Given the description of an element on the screen output the (x, y) to click on. 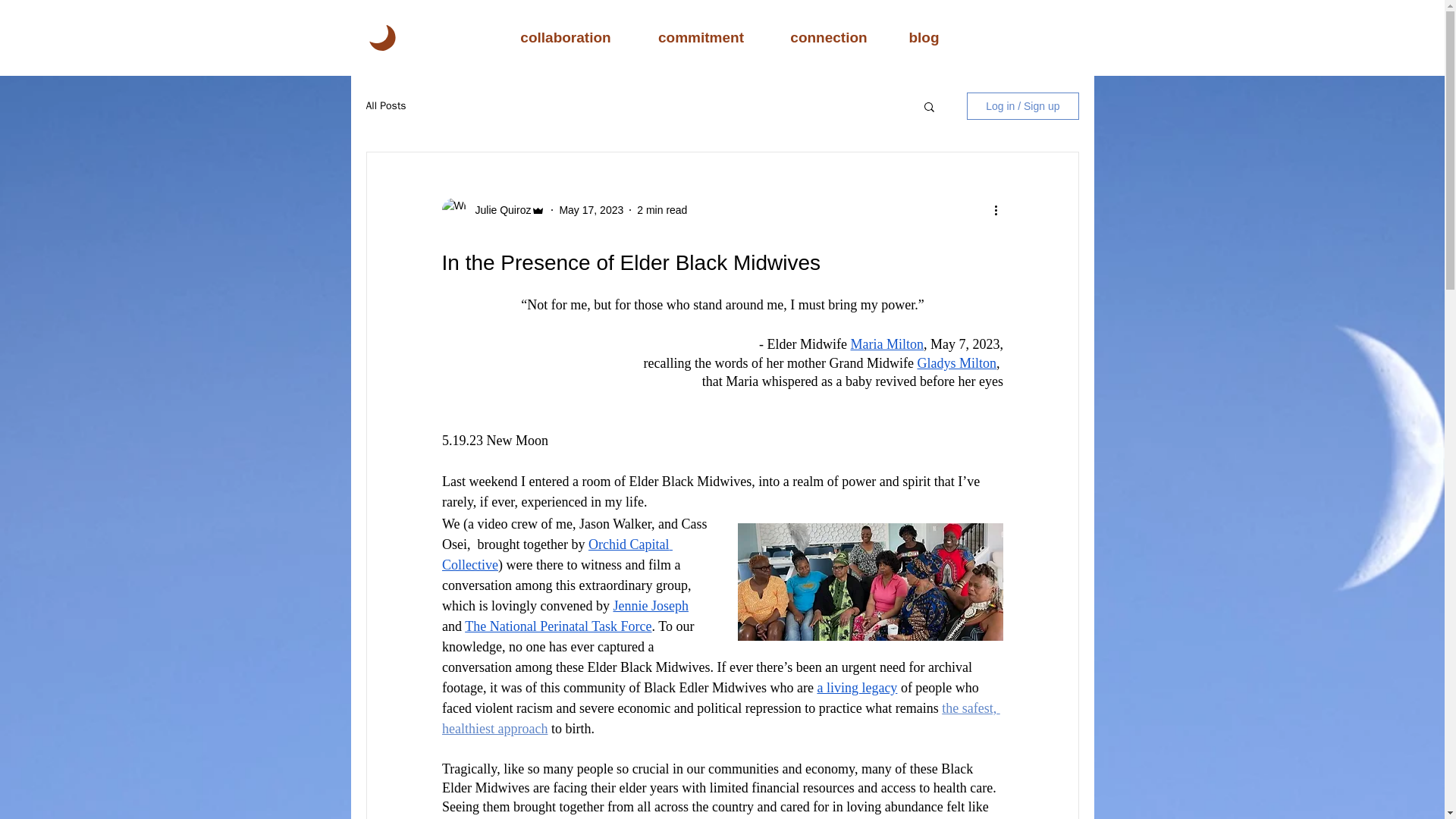
connection (828, 37)
a living legacy (856, 687)
May 17, 2023 (591, 209)
the safest, healthiest approach (719, 718)
2 min read (662, 209)
Julie Quiroz (498, 209)
blog (923, 37)
collaboration (565, 37)
Maria Milton (886, 344)
Orchid Capital Collective (556, 554)
All Posts (385, 106)
Jennie Joseph (649, 605)
commitment (700, 37)
Gladys Milton (956, 363)
The National Perinatal Task Force (557, 626)
